Given the description of an element on the screen output the (x, y) to click on. 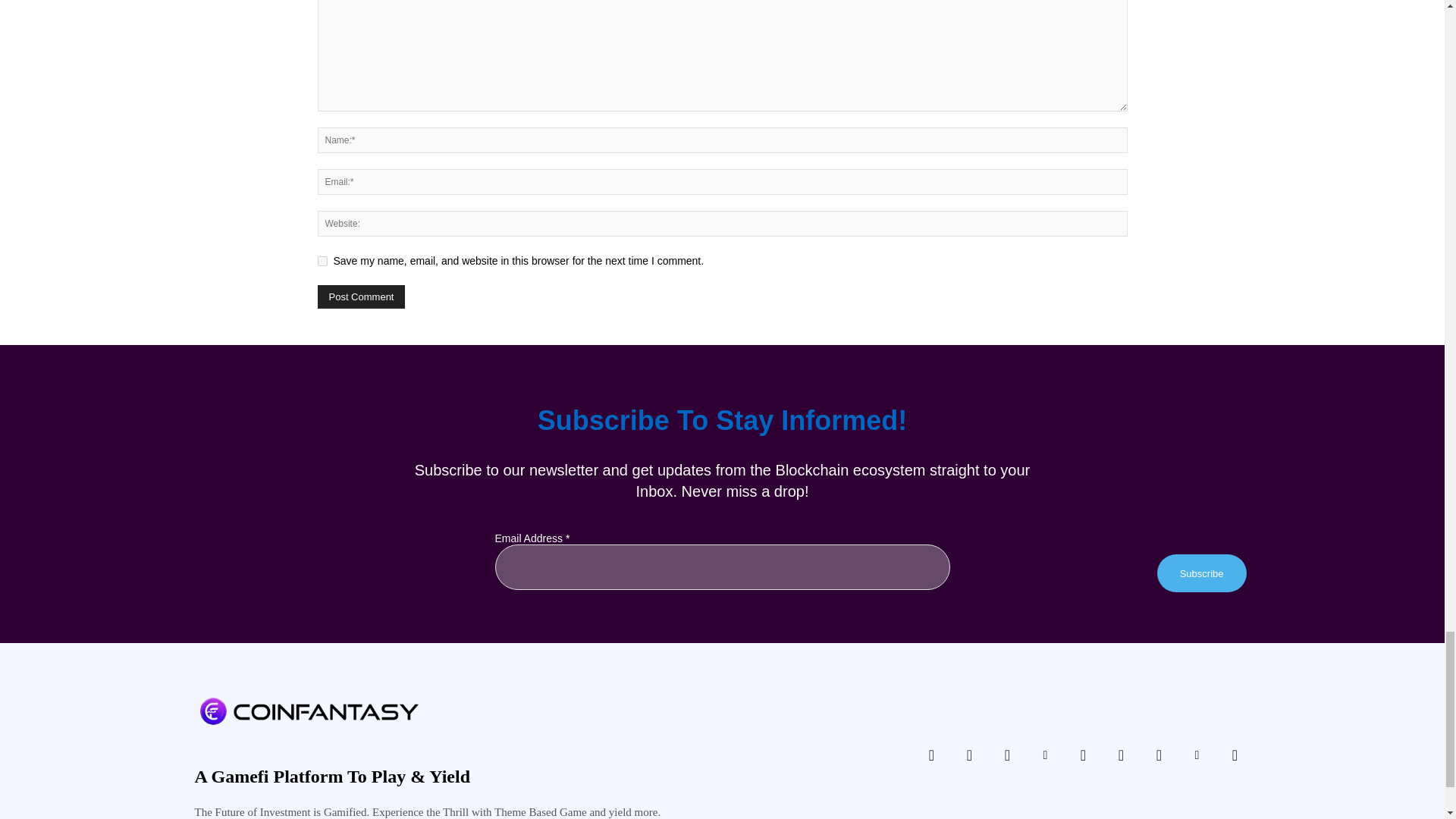
Discord (930, 755)
yes (321, 261)
Subscribe (1201, 573)
CF Logo (307, 711)
Post Comment (360, 296)
